Given the description of an element on the screen output the (x, y) to click on. 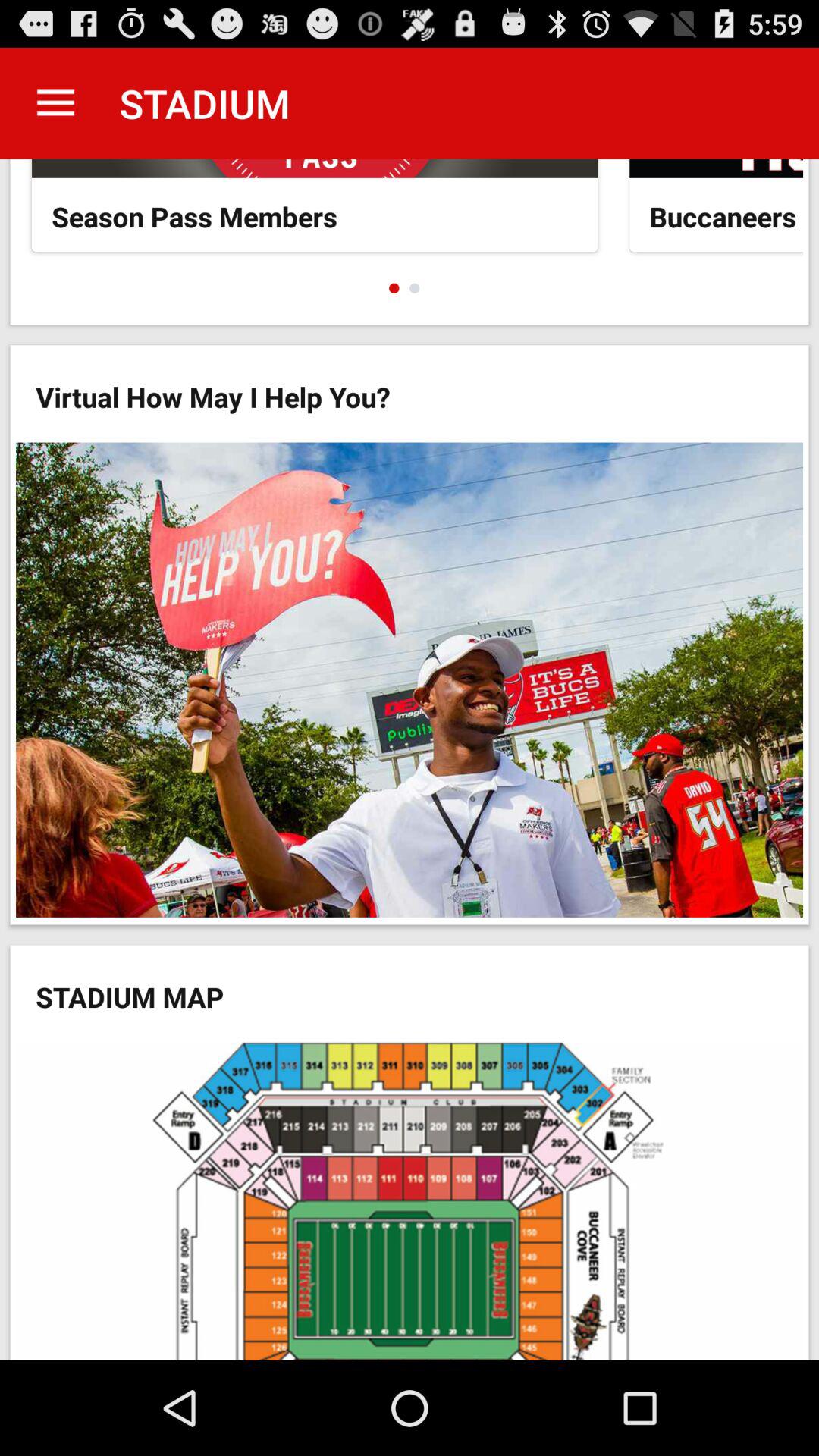
select item to the left of stadium app (55, 103)
